Given the description of an element on the screen output the (x, y) to click on. 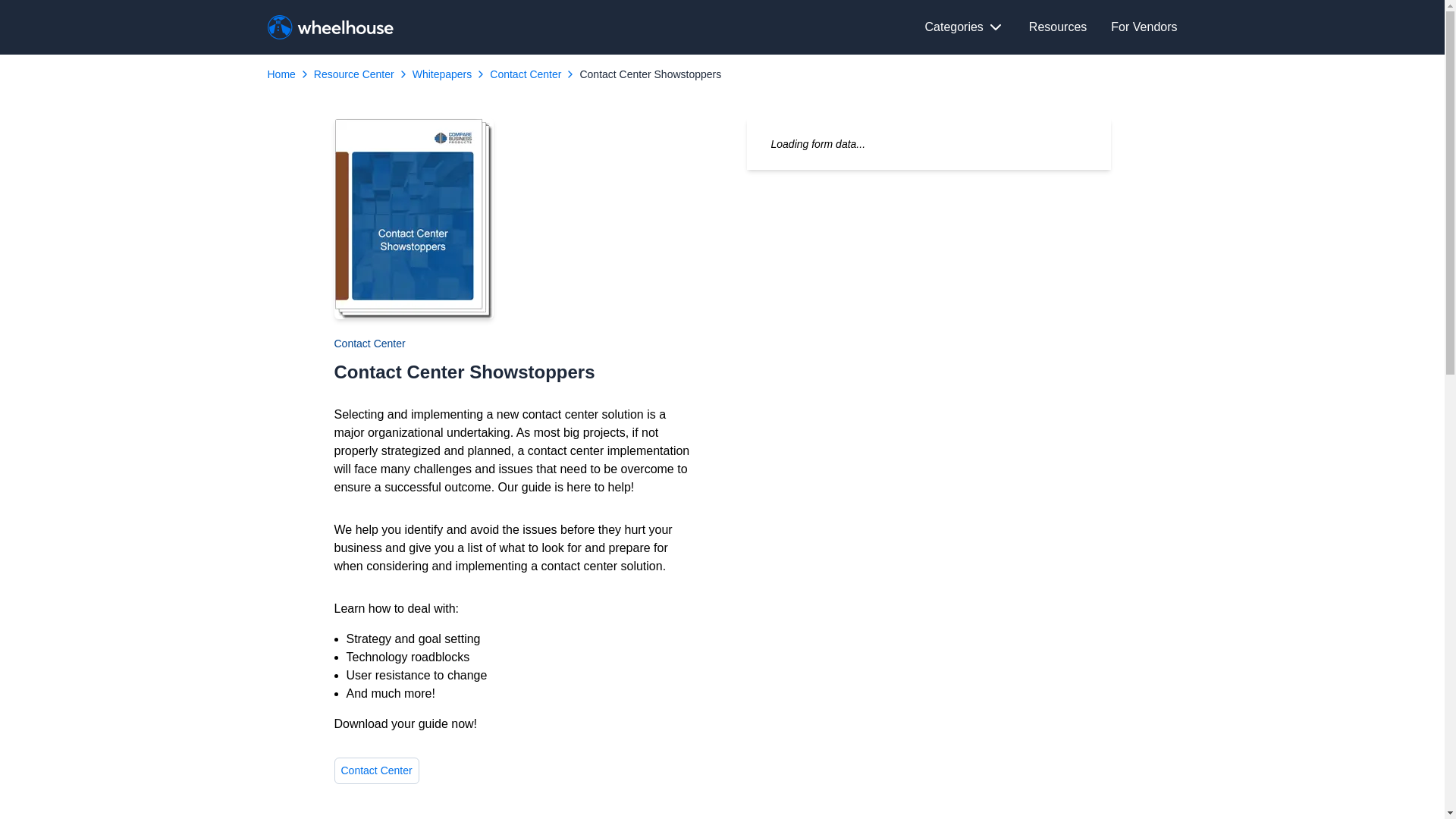
For Vendors (1143, 26)
Resources (1057, 26)
Contact Center (368, 343)
Contact Center (376, 769)
Contact Center Showstoppers (649, 73)
Contact Center (524, 73)
Whitepapers (441, 73)
Home (280, 73)
Categories (964, 26)
Resource Center (354, 73)
